Given the description of an element on the screen output the (x, y) to click on. 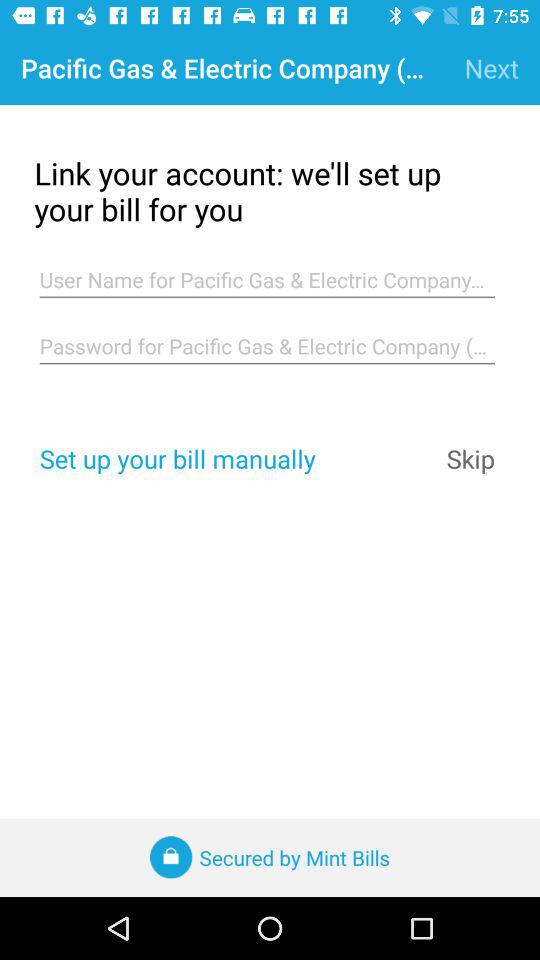
line to enter login (267, 280)
